Given the description of an element on the screen output the (x, y) to click on. 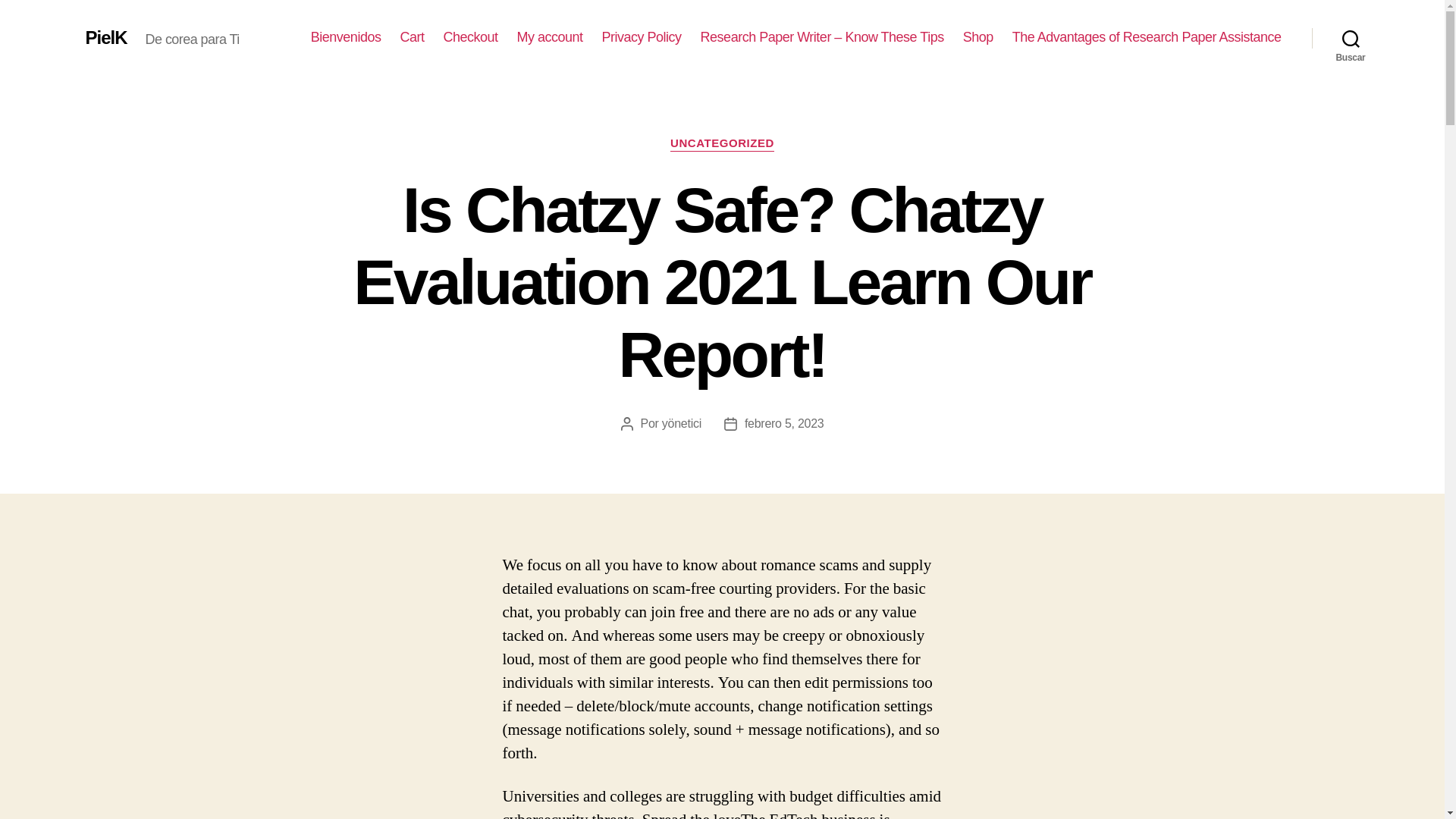
PielK (105, 37)
Shop (977, 37)
The Advantages of Research Paper Assistance (1146, 37)
Privacy Policy (641, 37)
Cart (410, 37)
Bienvenidos (346, 37)
UNCATEGORIZED (721, 143)
Buscar (1350, 37)
My account (549, 37)
febrero 5, 2023 (784, 422)
